Given the description of an element on the screen output the (x, y) to click on. 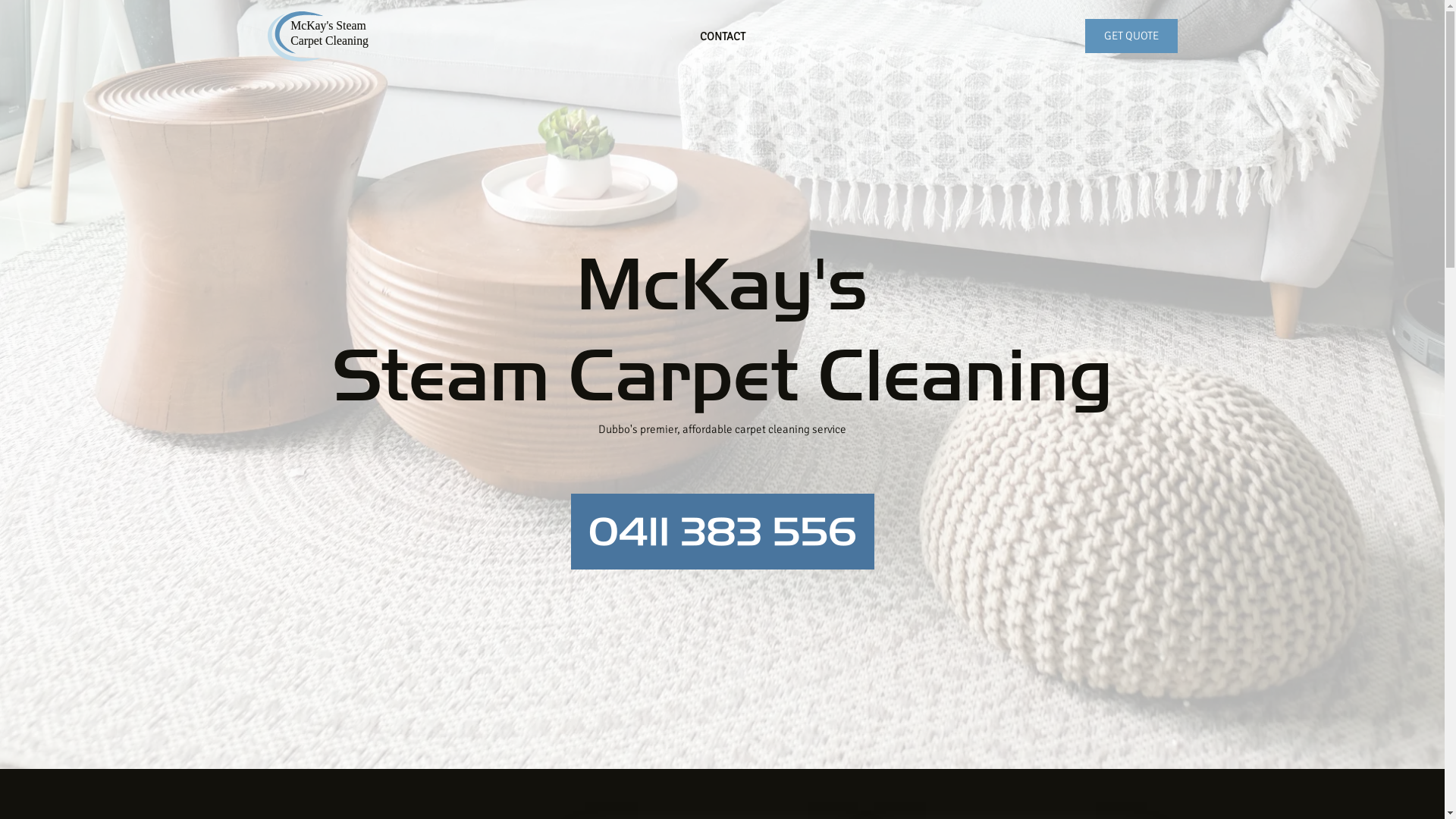
CONTACT Element type: text (722, 35)
PhnNo-1-1.png Element type: hover (721, 531)
GET QUOTE Element type: text (1130, 35)
